Given the description of an element on the screen output the (x, y) to click on. 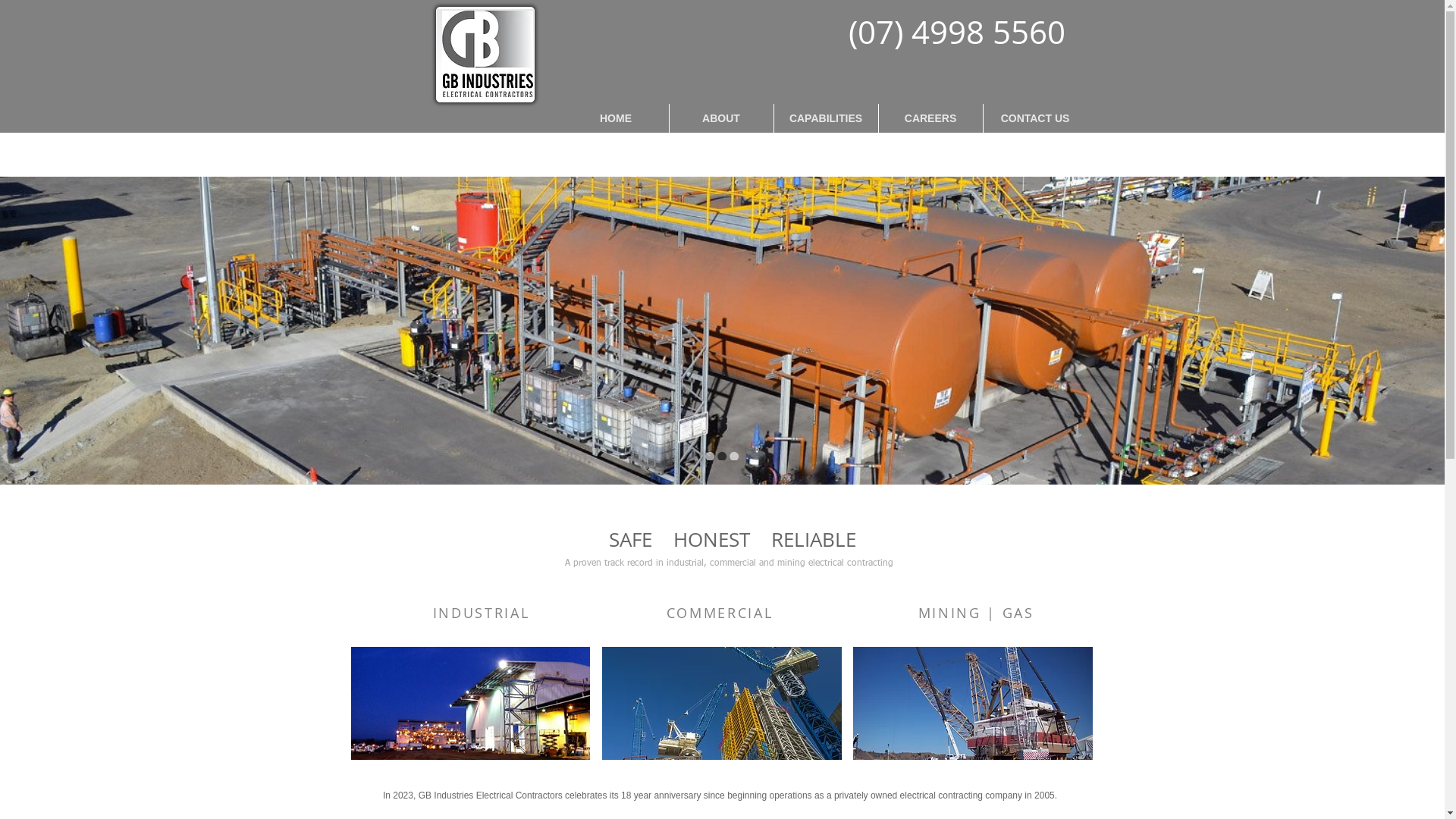
CAPABILITIES Element type: text (825, 117)
GB Industries logo.jpg Element type: hover (486, 53)
CAREERS Element type: text (930, 117)
CONTACT US Element type: text (1034, 117)
HOME Element type: text (615, 117)
ABOUT Element type: text (720, 117)
